Given the description of an element on the screen output the (x, y) to click on. 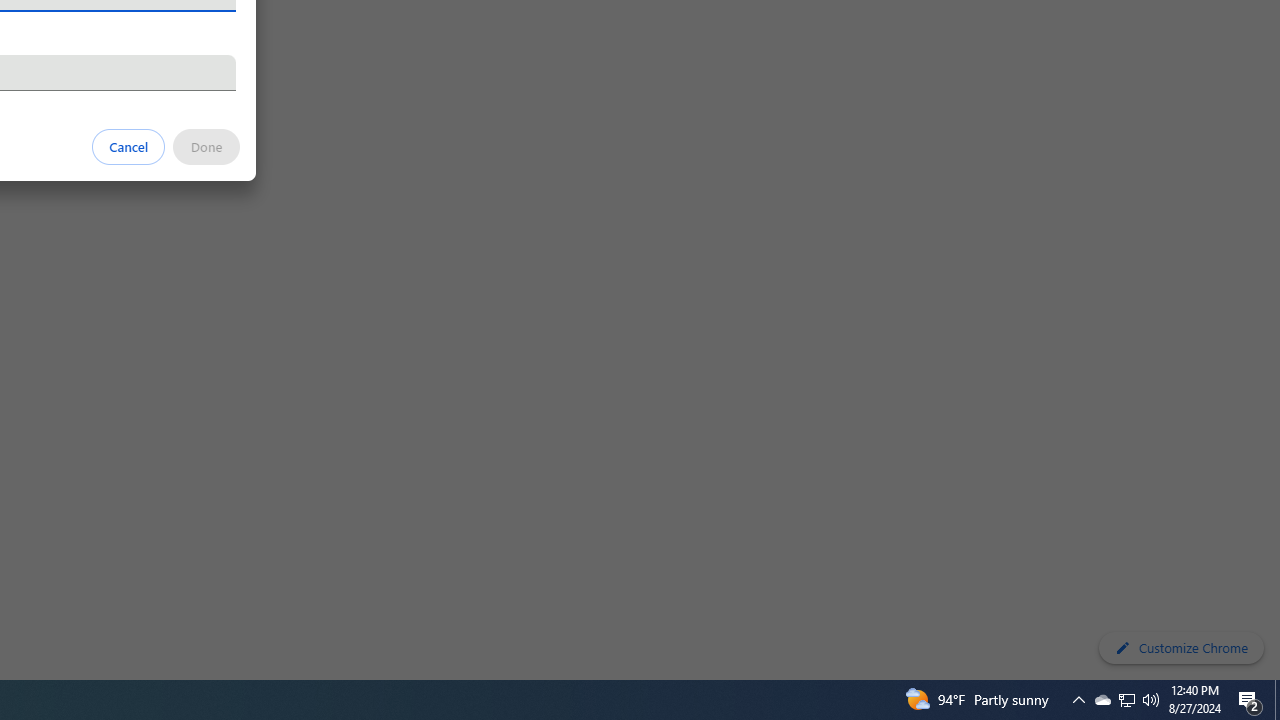
Cancel (129, 146)
Done (206, 146)
